Given the description of an element on the screen output the (x, y) to click on. 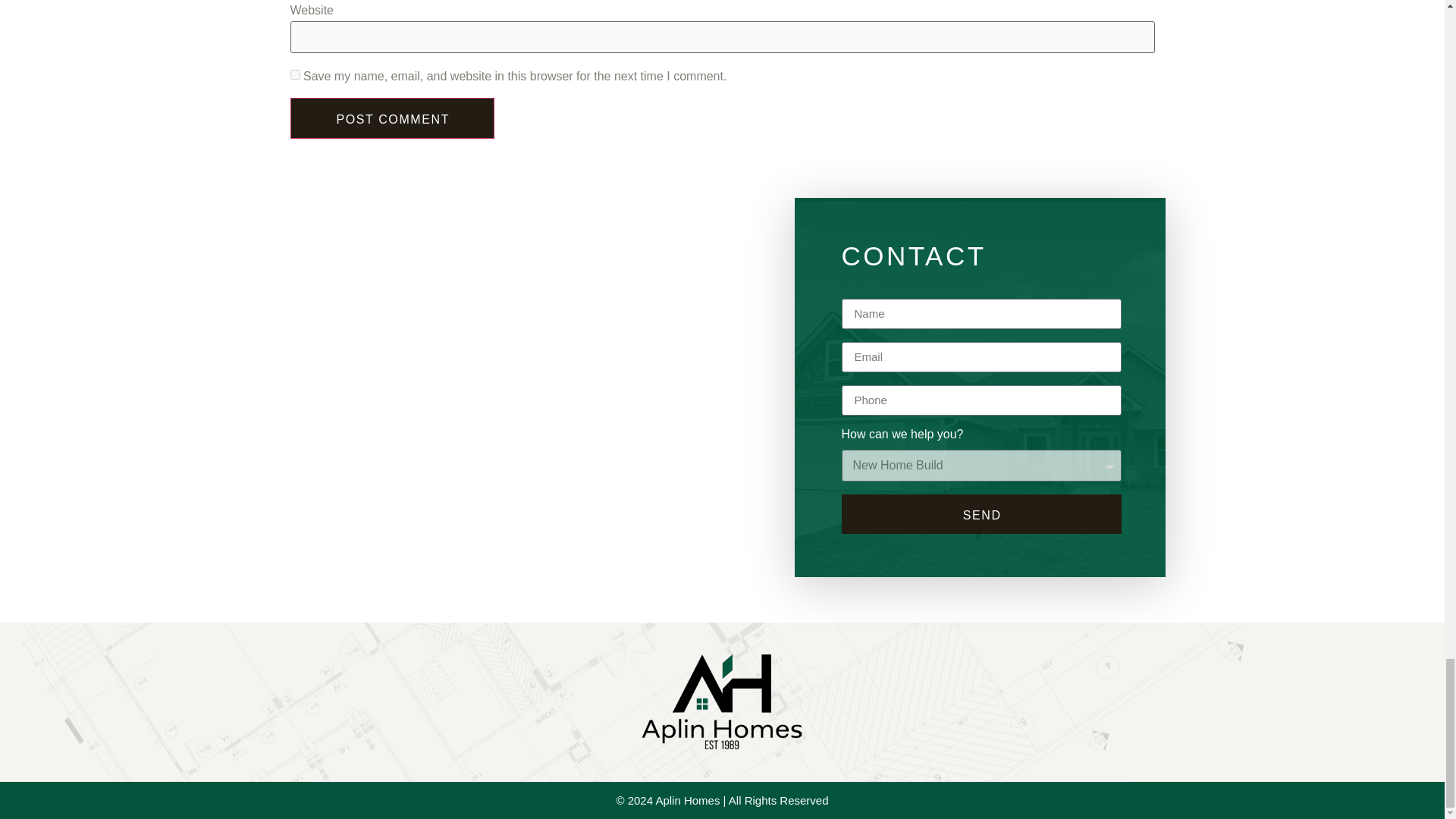
Post Comment (392, 117)
yes (294, 74)
SEND (981, 513)
207 That Way St. Ste. A2 Lake Jackson, TX 77566 (512, 453)
Post Comment (392, 117)
